Given the description of an element on the screen output the (x, y) to click on. 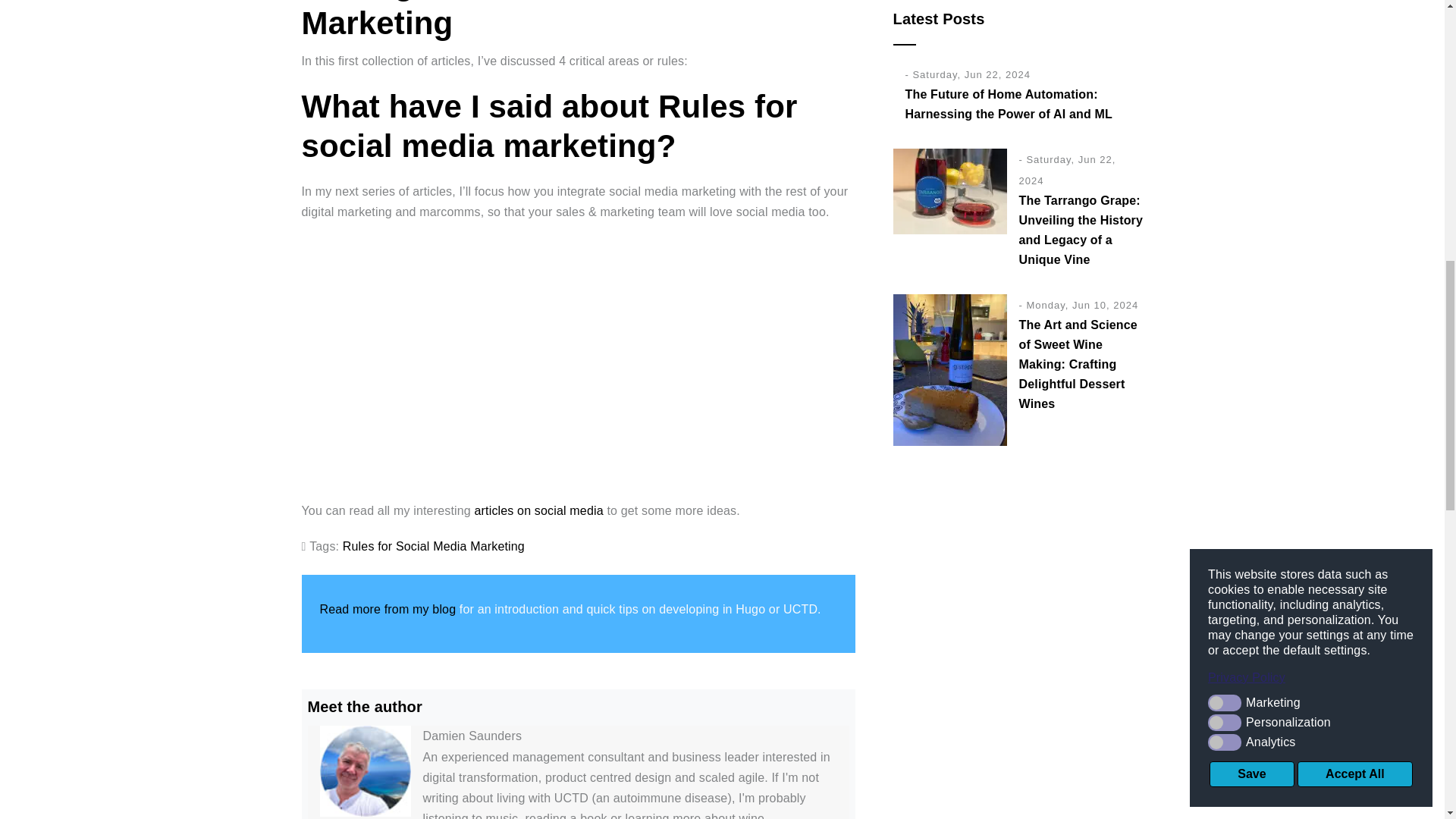
Read more from my blog (388, 608)
a bottle of Tarrango wine and a glass (950, 191)
Rules for Social Media Marketing (433, 545)
articles on social media (538, 510)
